Given the description of an element on the screen output the (x, y) to click on. 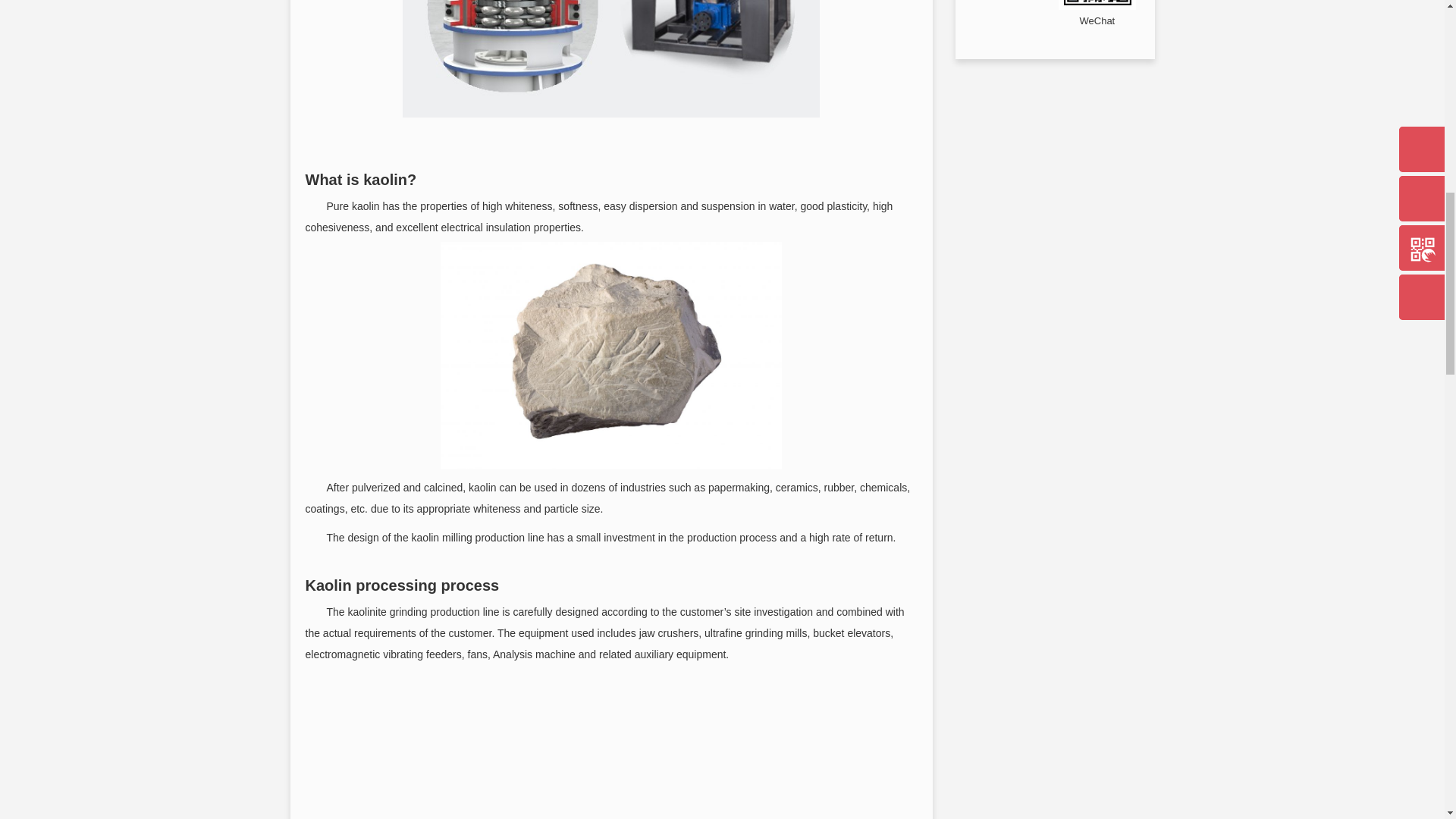
YouTube video player (611, 745)
